Given the description of an element on the screen output the (x, y) to click on. 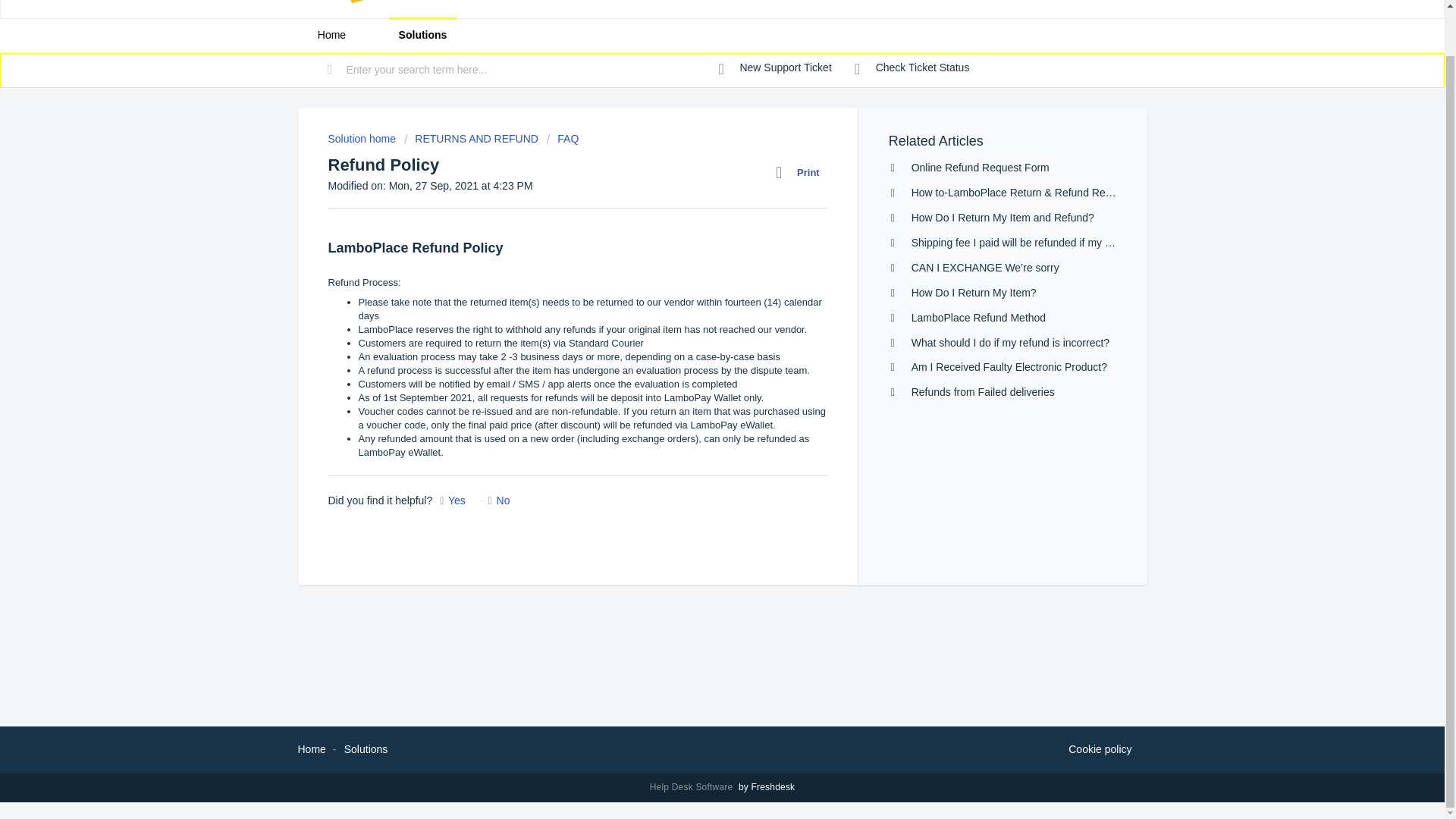
Why we love Cookies (1099, 750)
Solutions (365, 748)
Refunds from Failed deliveries (982, 391)
Check ticket status (911, 68)
Solutions (422, 35)
RETURNS AND REFUND (472, 138)
Solution home (362, 138)
Home (310, 748)
New support ticket (775, 68)
New Support Ticket (775, 68)
